Given the description of an element on the screen output the (x, y) to click on. 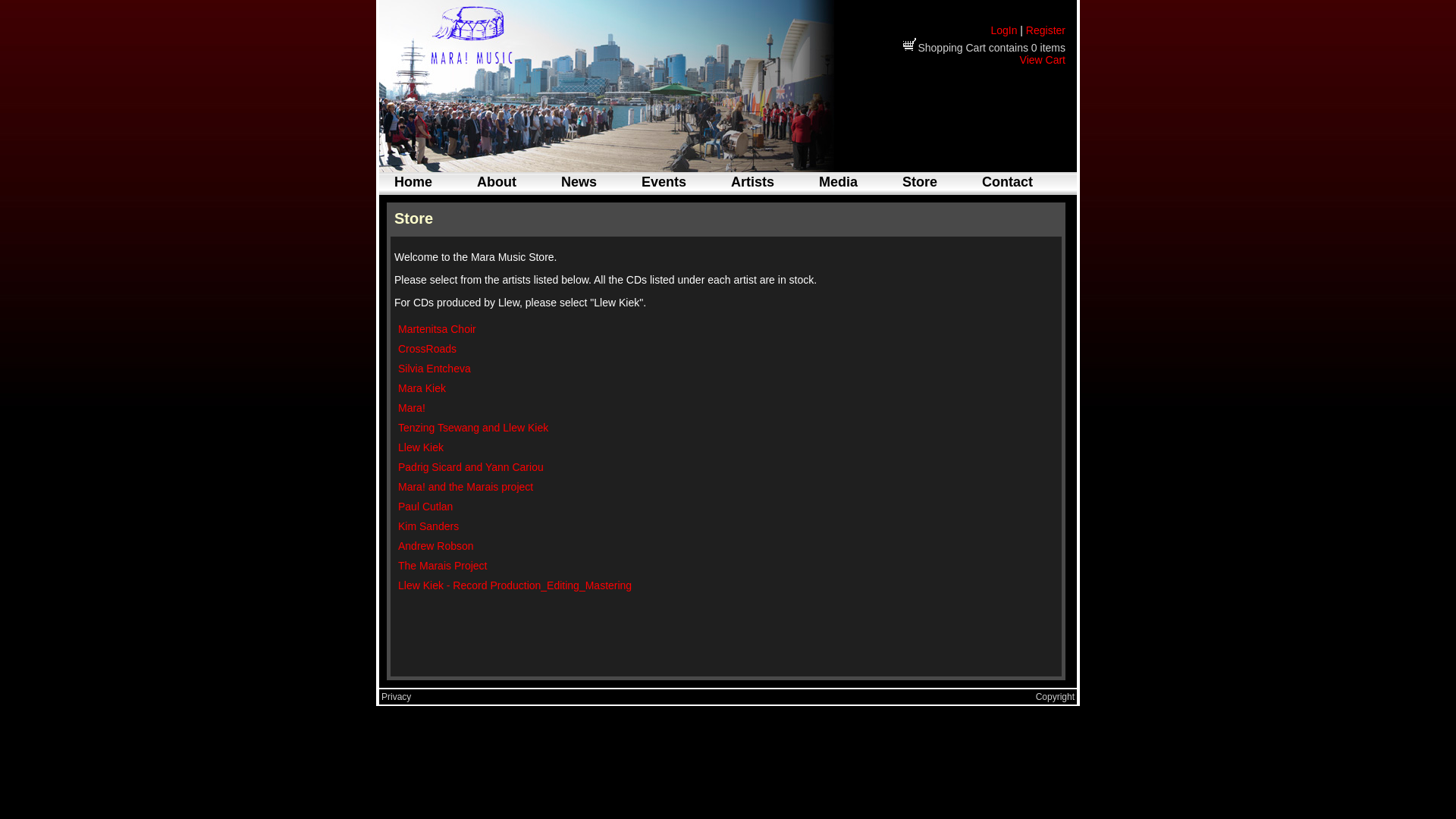
Paul Cutlan Element type: text (425, 506)
Home Element type: text (413, 181)
Padrig Sicard and Yann Cariou Element type: text (470, 467)
Store Element type: text (919, 181)
Tenzing Tsewang and Llew Kiek Element type: text (473, 427)
Contact Element type: text (1007, 181)
Silvia Entcheva Element type: text (434, 368)
Mara! and the Marais project Element type: text (465, 486)
Copyright Element type: text (1054, 696)
Kim Sanders Element type: text (428, 526)
Events Element type: text (663, 181)
Llew Kiek Element type: text (420, 447)
Artists Element type: text (752, 181)
View Cart Element type: text (1042, 59)
Andrew Robson Element type: text (435, 545)
CrossRoads Element type: text (427, 348)
About Element type: text (496, 181)
Media Element type: text (837, 181)
Martenitsa Choir Element type: text (437, 329)
Llew Kiek - Record Production_Editing_Mastering Element type: text (514, 585)
Register Element type: text (1045, 30)
News Element type: text (578, 181)
LogIn Element type: text (1003, 30)
Mara Kiek Element type: text (421, 388)
The Marais Project Element type: text (442, 565)
Mara! Element type: text (411, 407)
Privacy Element type: text (396, 696)
